Given the description of an element on the screen output the (x, y) to click on. 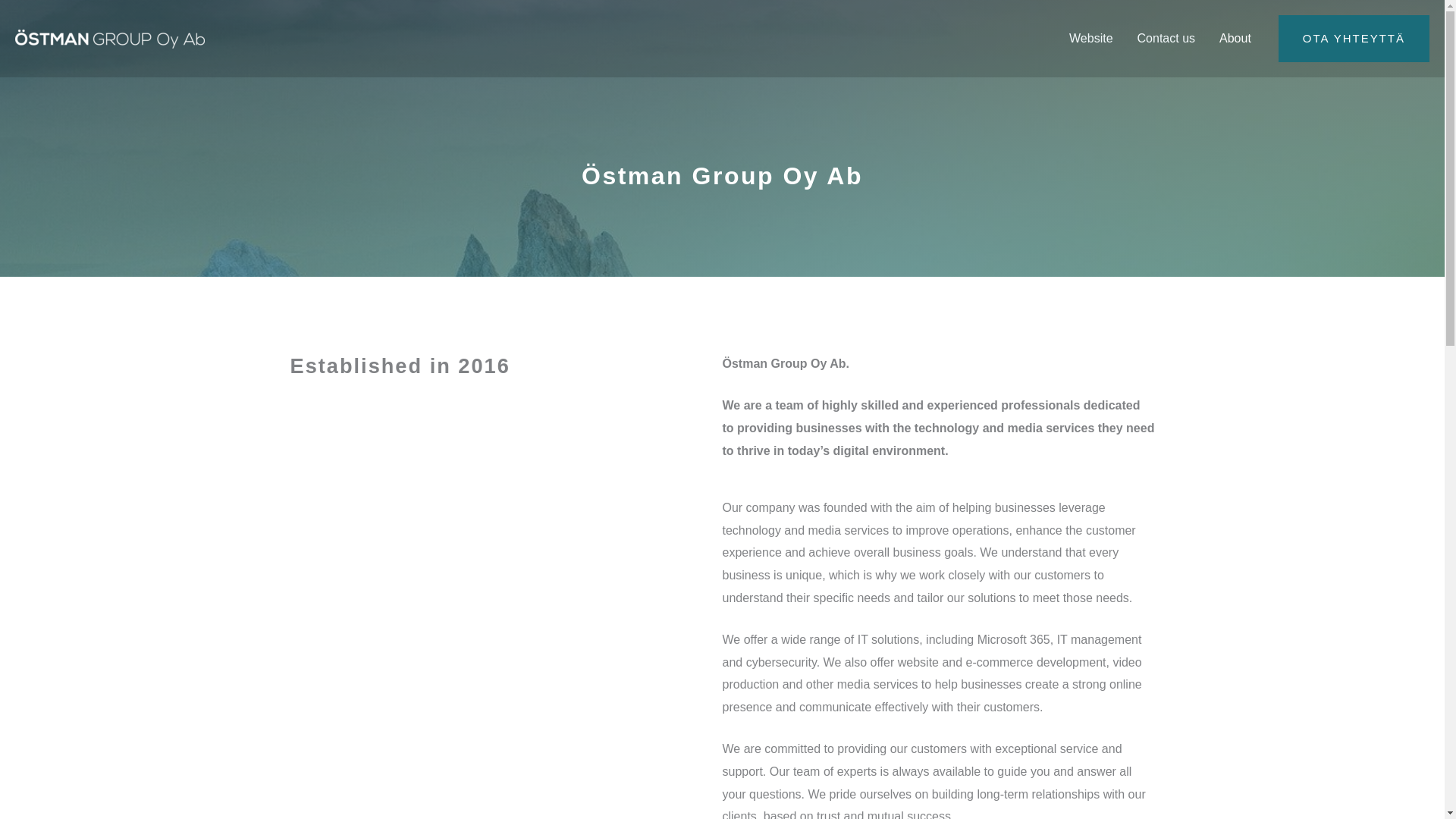
About (1235, 38)
Contact us (1166, 38)
Website (1091, 38)
